Given the description of an element on the screen output the (x, y) to click on. 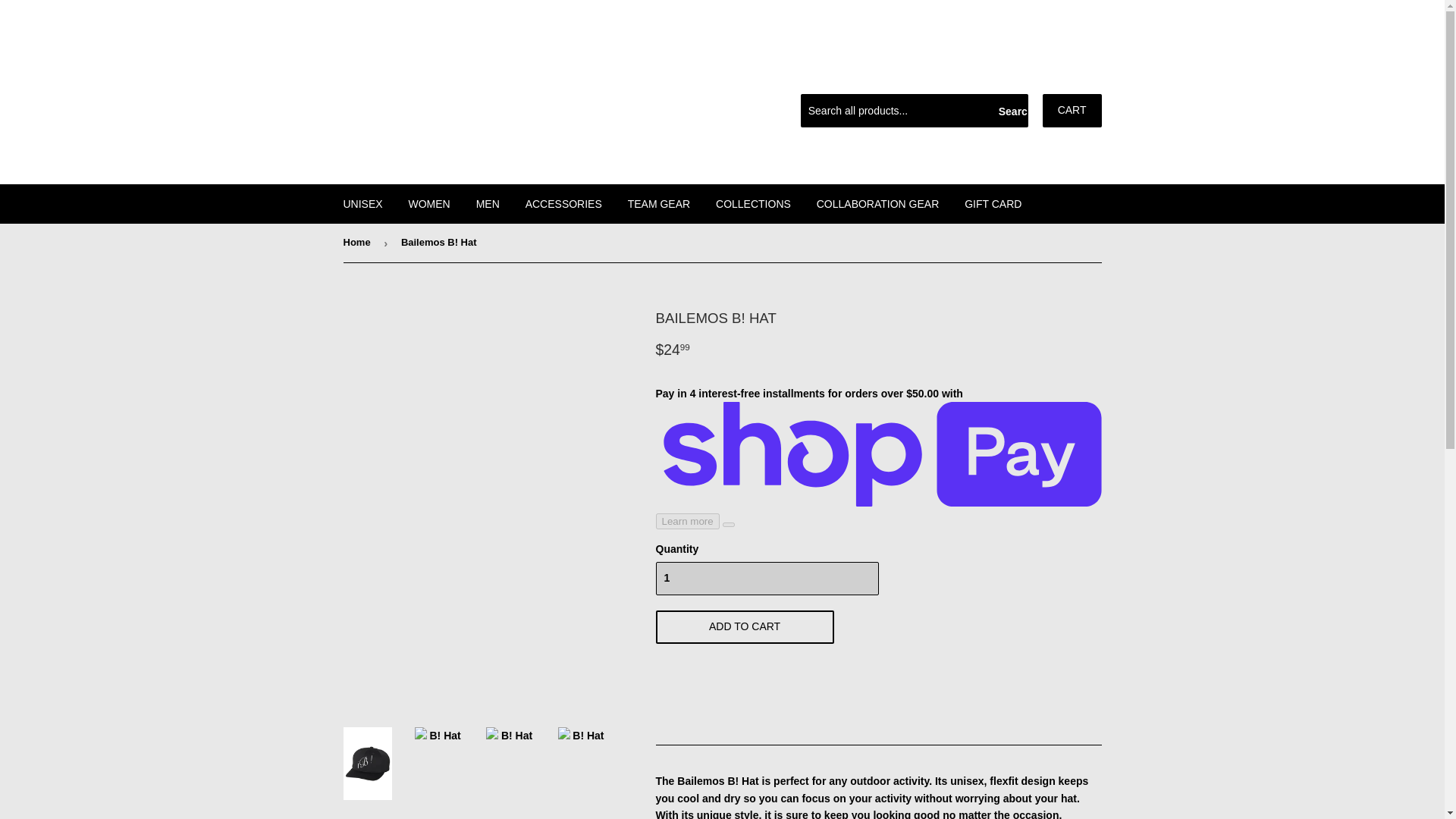
Create an Account (1062, 74)
Sign in (986, 74)
1 (766, 578)
CART (1072, 110)
Search (1010, 111)
